Given the description of an element on the screen output the (x, y) to click on. 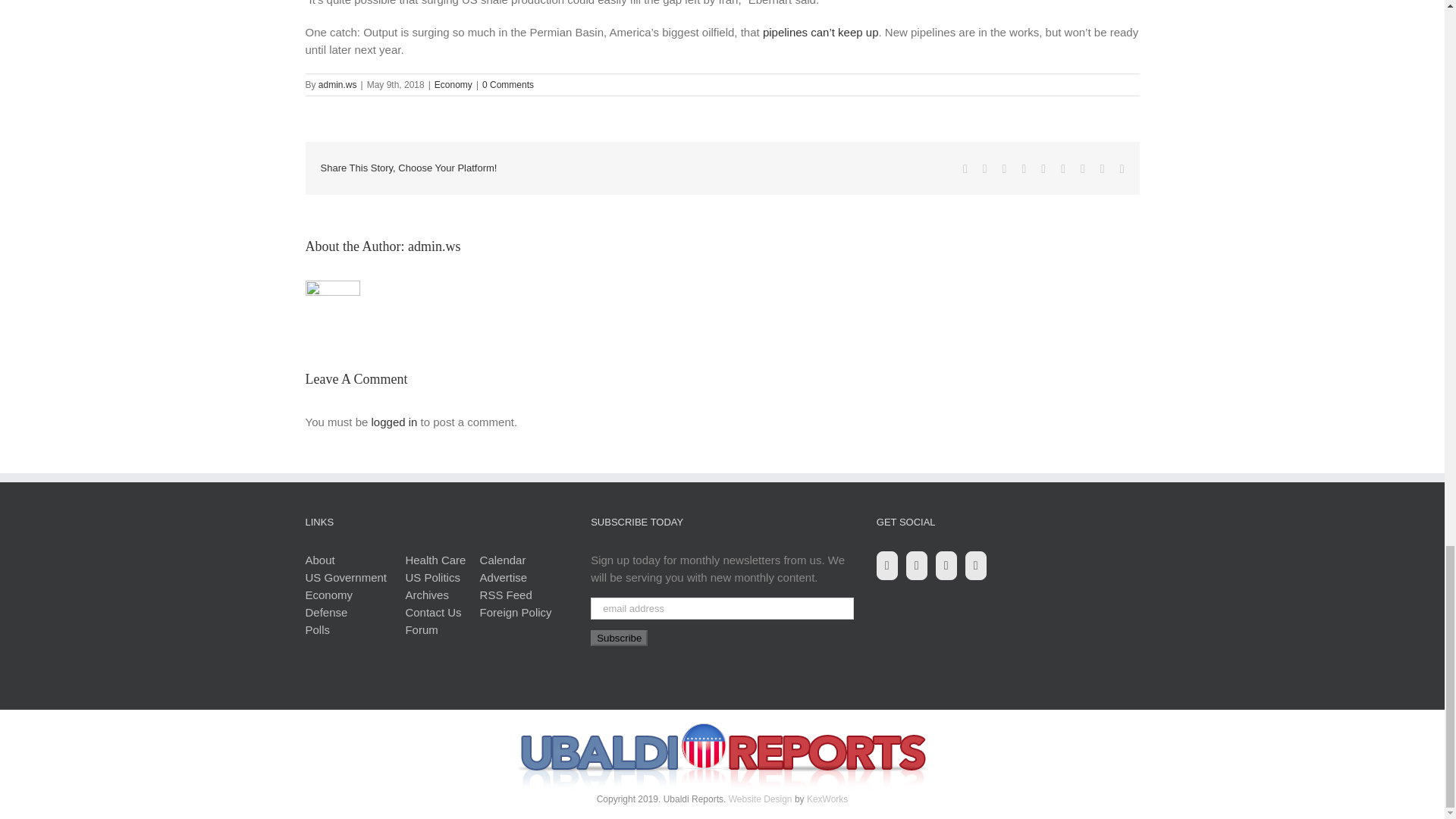
Posts by admin.ws (434, 246)
Subscribe (619, 637)
Posts by admin.ws (337, 84)
